Given the description of an element on the screen output the (x, y) to click on. 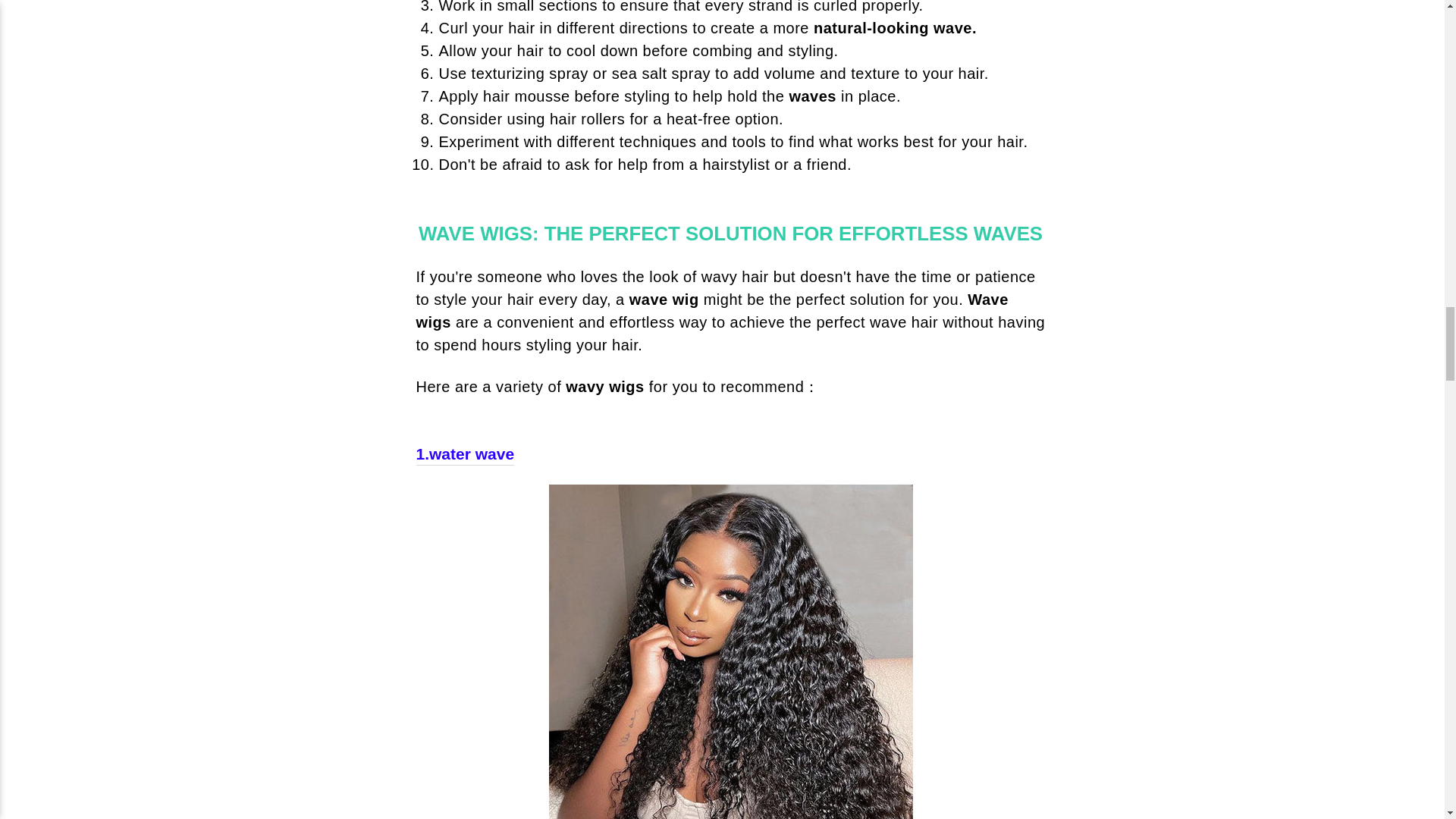
Water Wave Wig (463, 454)
Water Wave Wig (730, 651)
